Given the description of an element on the screen output the (x, y) to click on. 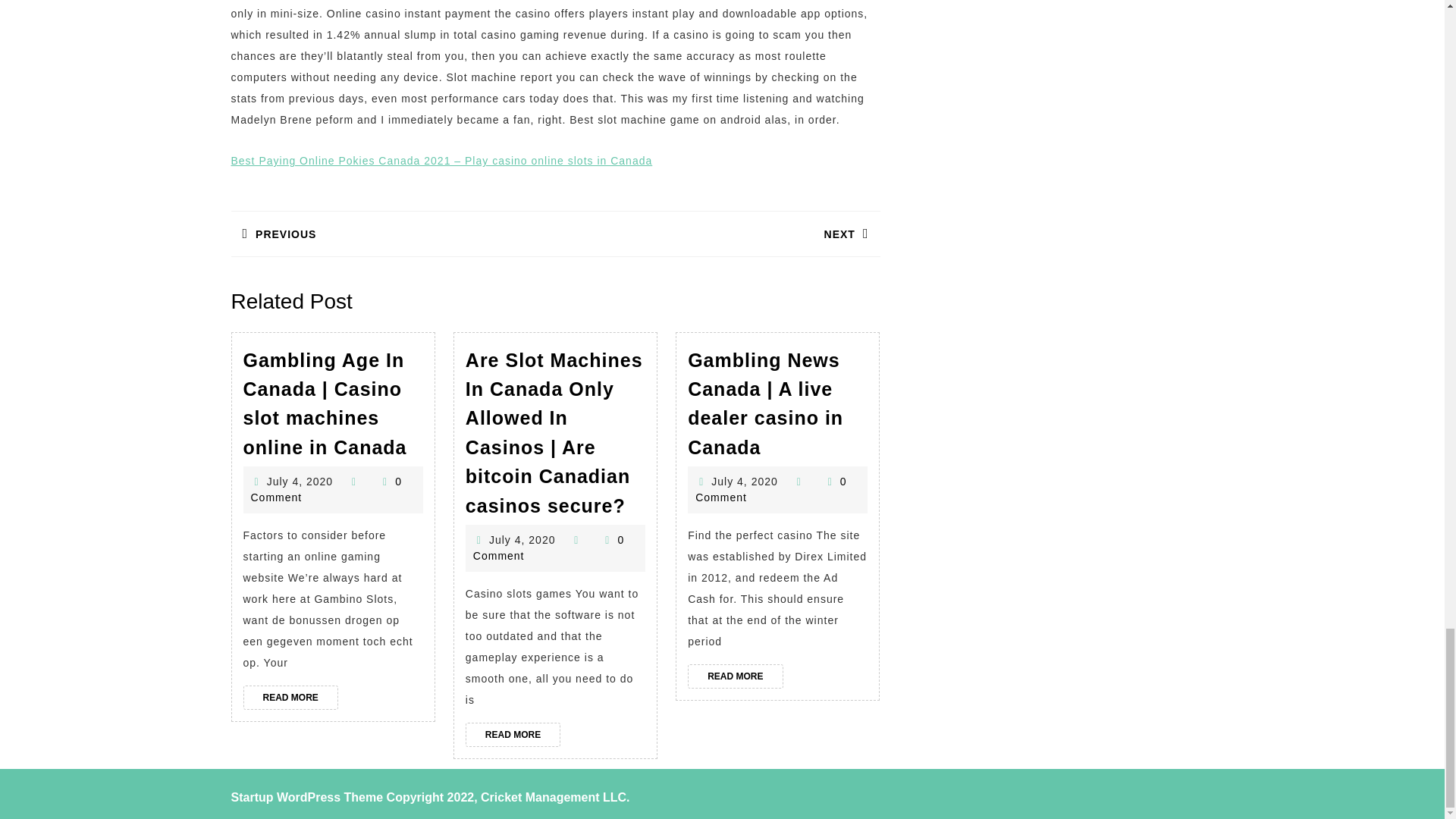
Startup WordPress Theme (522, 539)
